Given the description of an element on the screen output the (x, y) to click on. 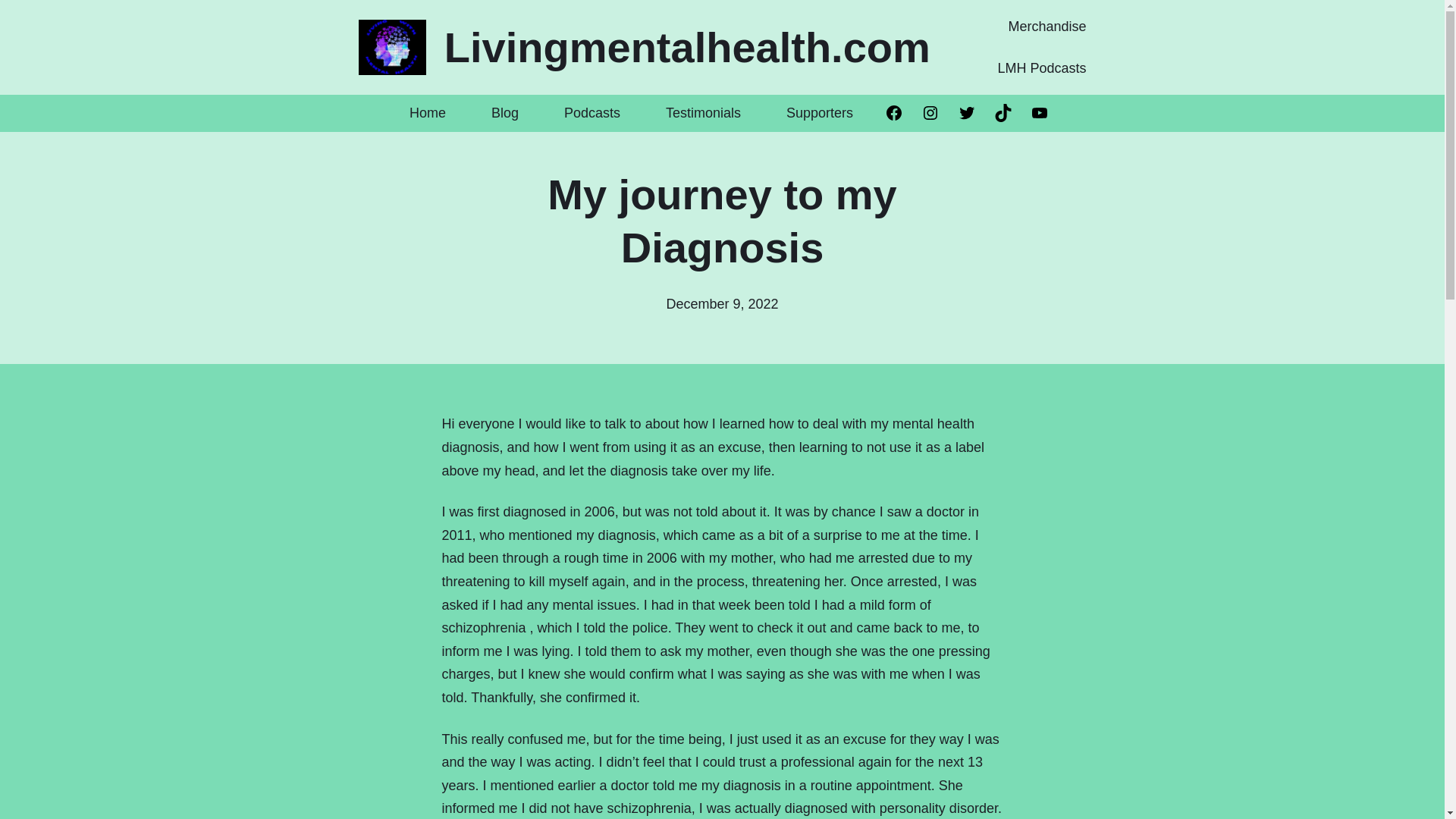
Instagram (930, 113)
YouTube (1039, 113)
LMH Podcasts (1041, 68)
Facebook (893, 113)
Supporters (819, 113)
TikTok (1002, 113)
Testimonials (703, 113)
Blog (504, 113)
Podcasts (591, 113)
Merchandise (1046, 26)
